Given the description of an element on the screen output the (x, y) to click on. 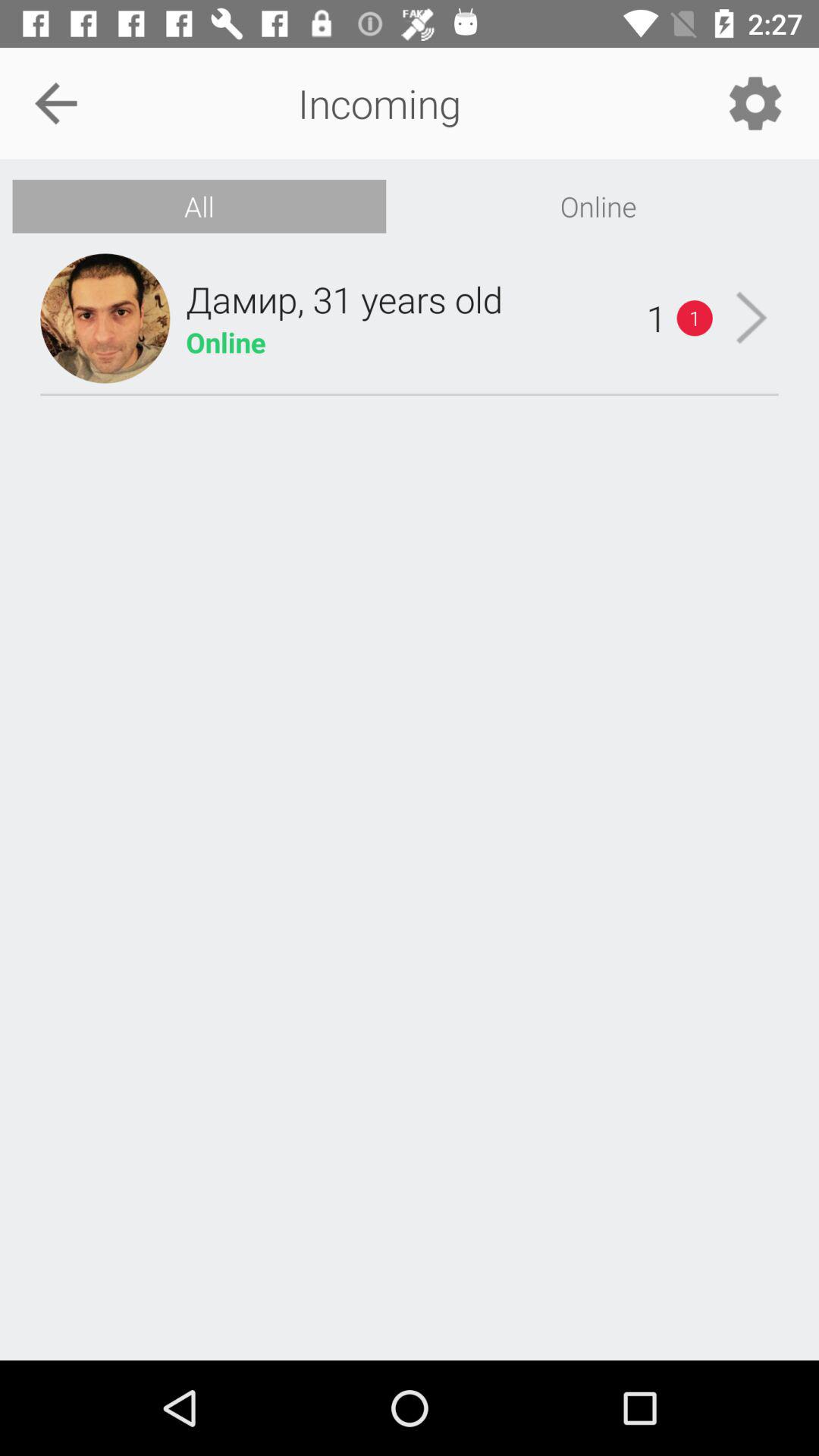
click icon to the left of 1 (343, 299)
